Given the description of an element on the screen output the (x, y) to click on. 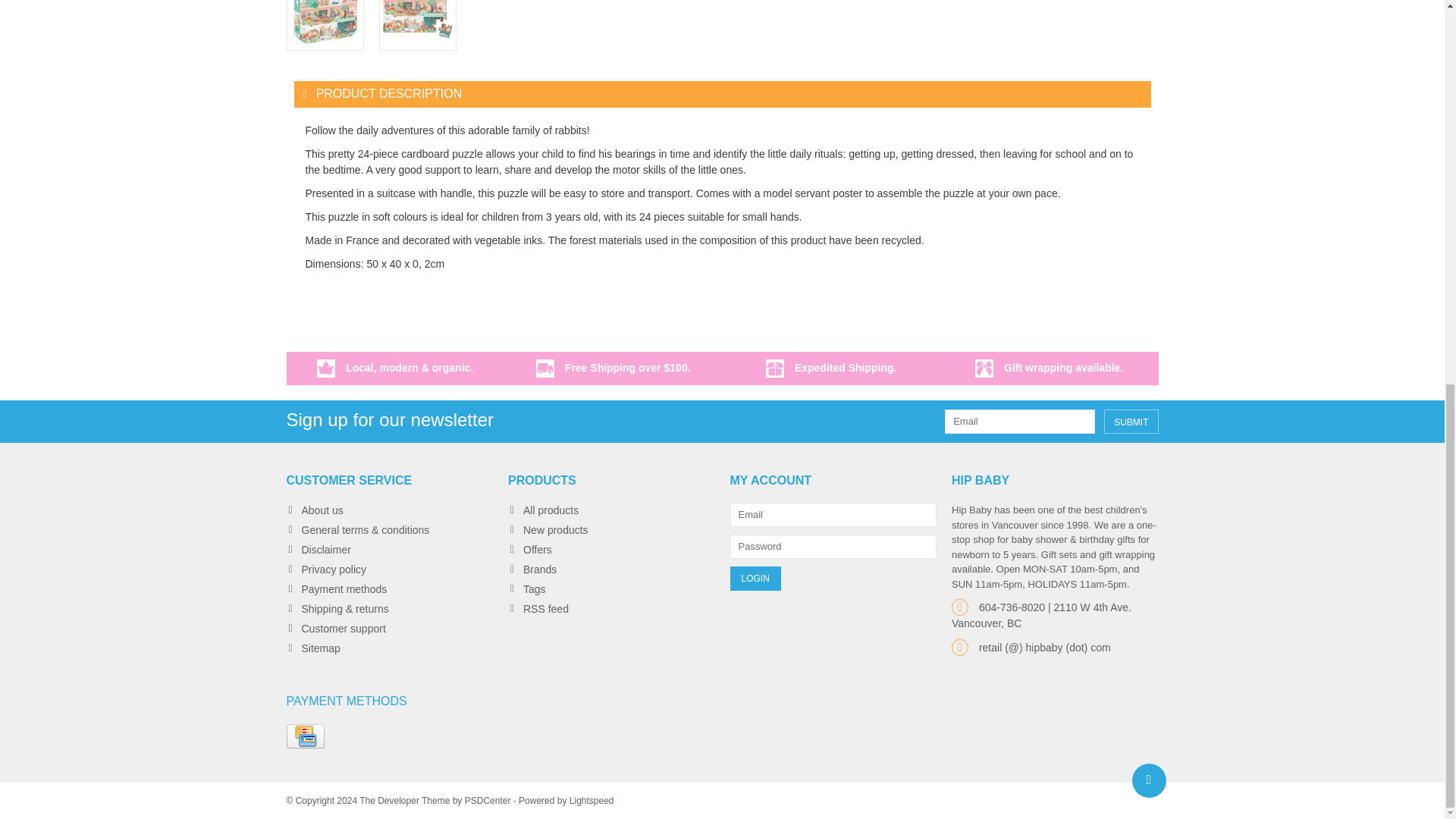
Login (754, 578)
